Given the description of an element on the screen output the (x, y) to click on. 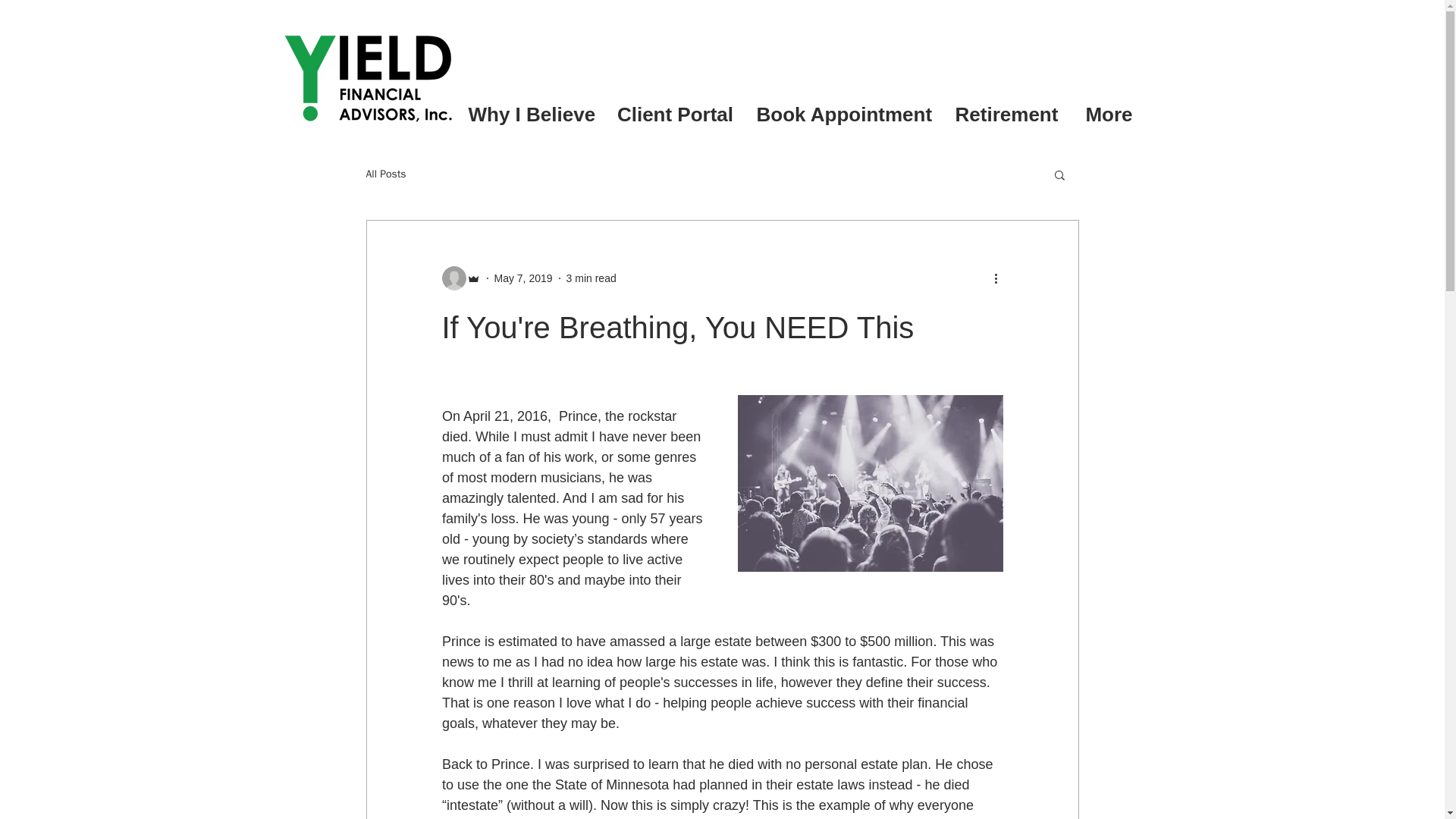
Client Portal (674, 114)
Book Appointment (843, 114)
3 min read (590, 277)
Why I Believe (531, 114)
May 7, 2019 (524, 277)
Retirement (1006, 114)
All Posts (385, 173)
